Given the description of an element on the screen output the (x, y) to click on. 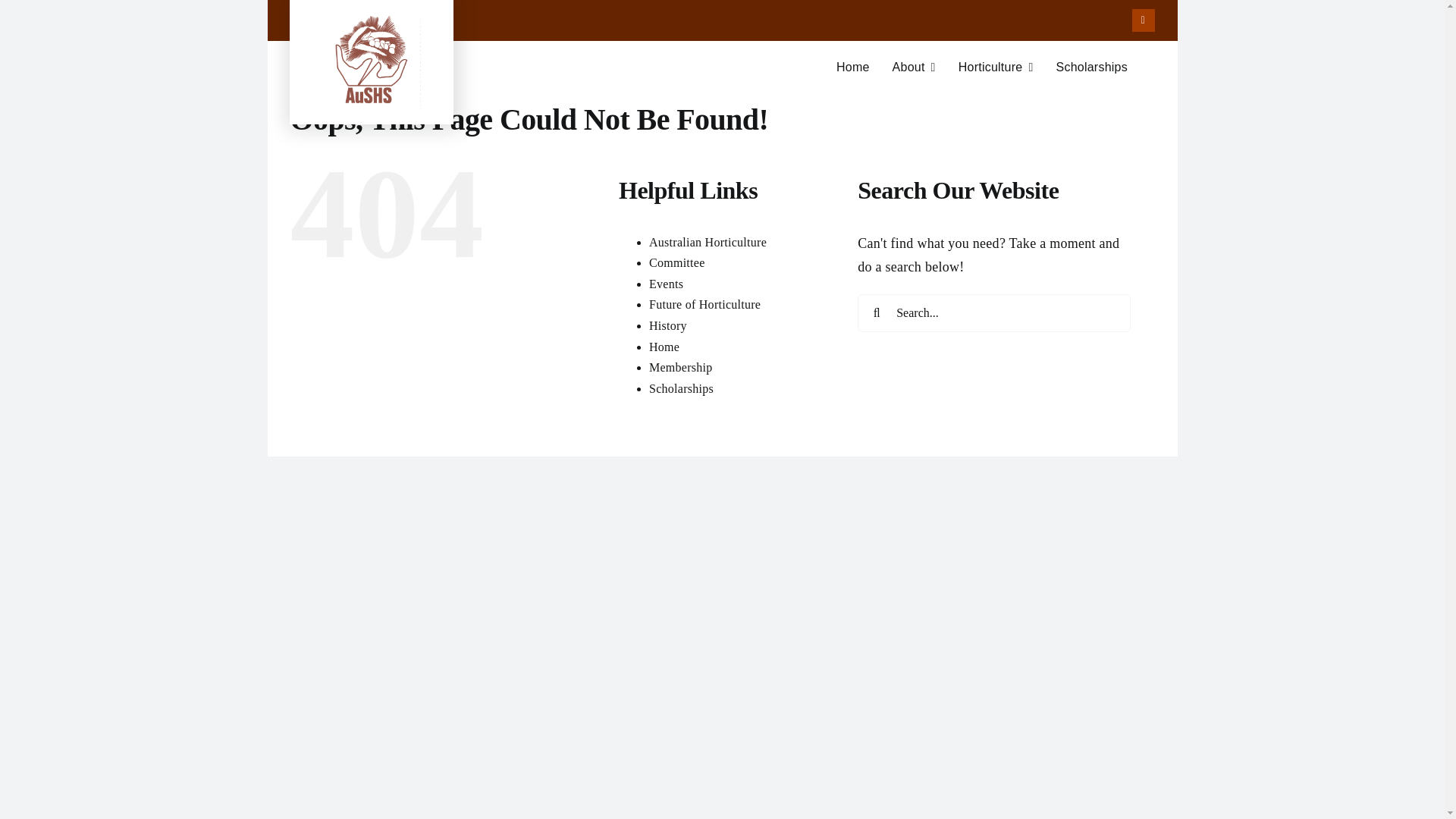
Membership (681, 367)
Scholarships (1090, 67)
Future of Horticulture (704, 304)
Committee (721, 74)
Events (676, 262)
Facebook (665, 283)
Horticulture (1143, 20)
Australian Horticulture (995, 67)
History (708, 241)
